Given the description of an element on the screen output the (x, y) to click on. 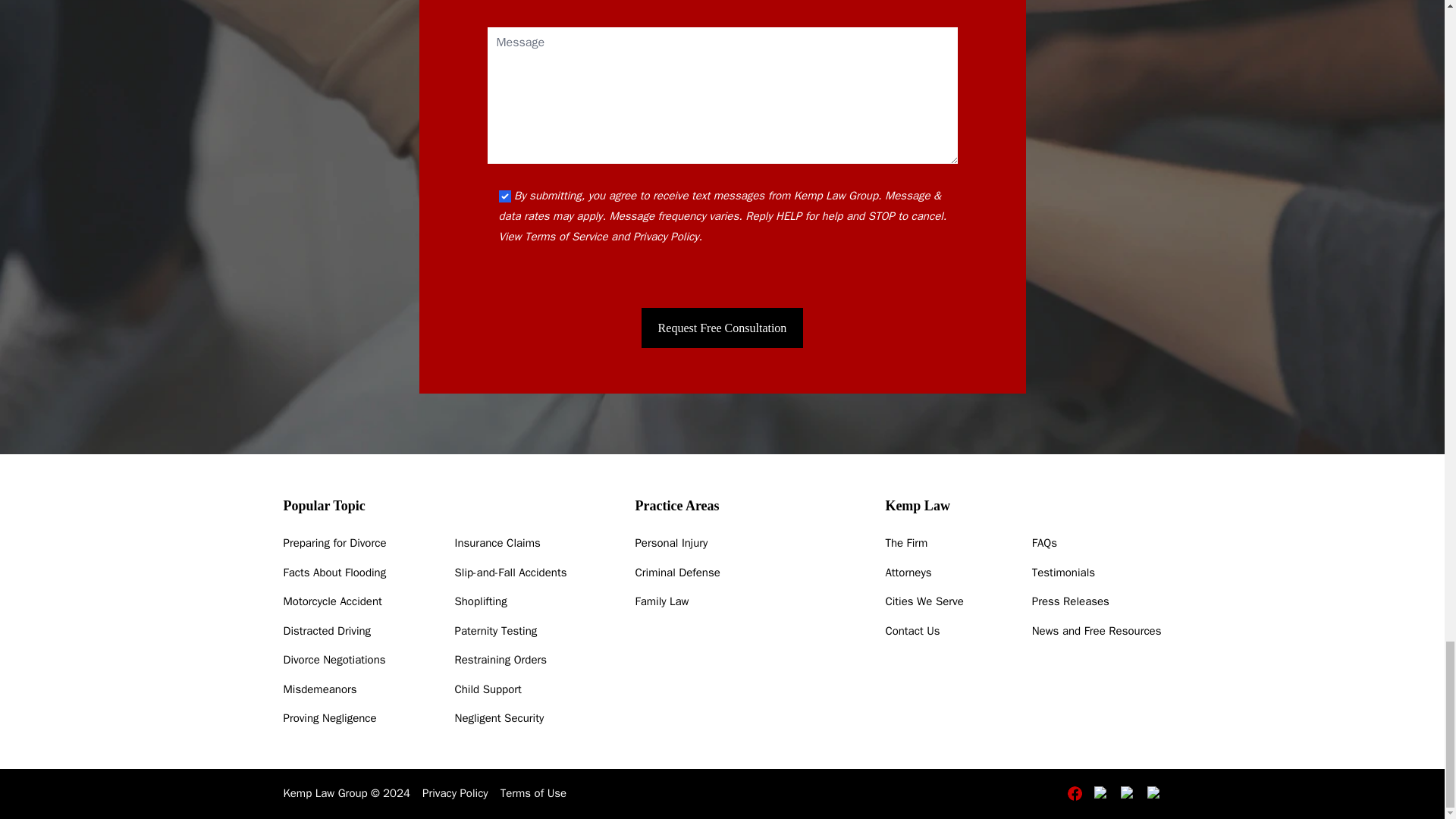
1 (505, 196)
Request Free Consultation (722, 327)
